Given the description of an element on the screen output the (x, y) to click on. 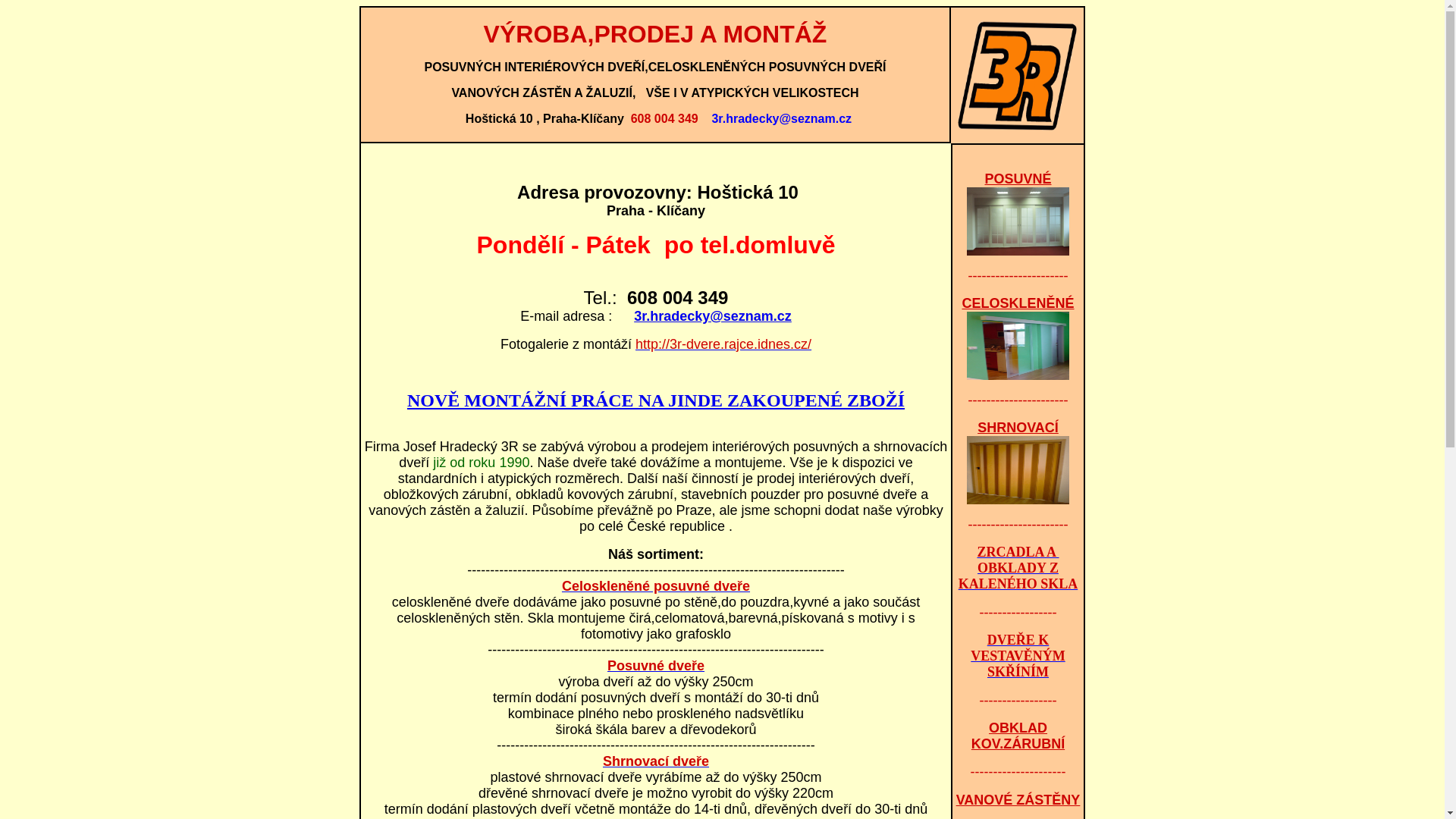
http://3r-dvere.rajce.idnes.cz/ Element type: text (723, 343)
3r.hradecky@seznam.cz Element type: text (712, 315)
